Given the description of an element on the screen output the (x, y) to click on. 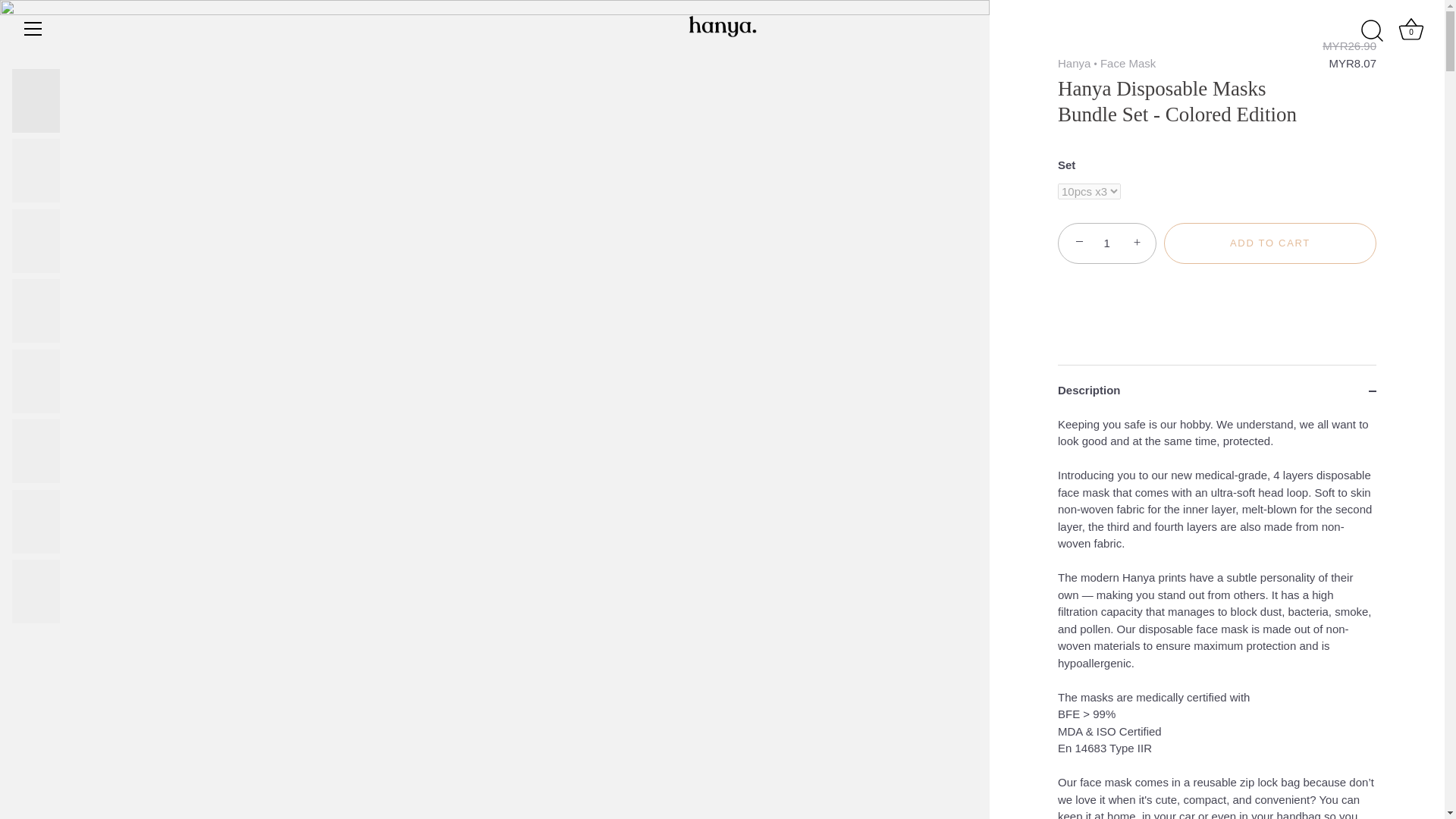
Basket (1411, 29)
